Given the description of an element on the screen output the (x, y) to click on. 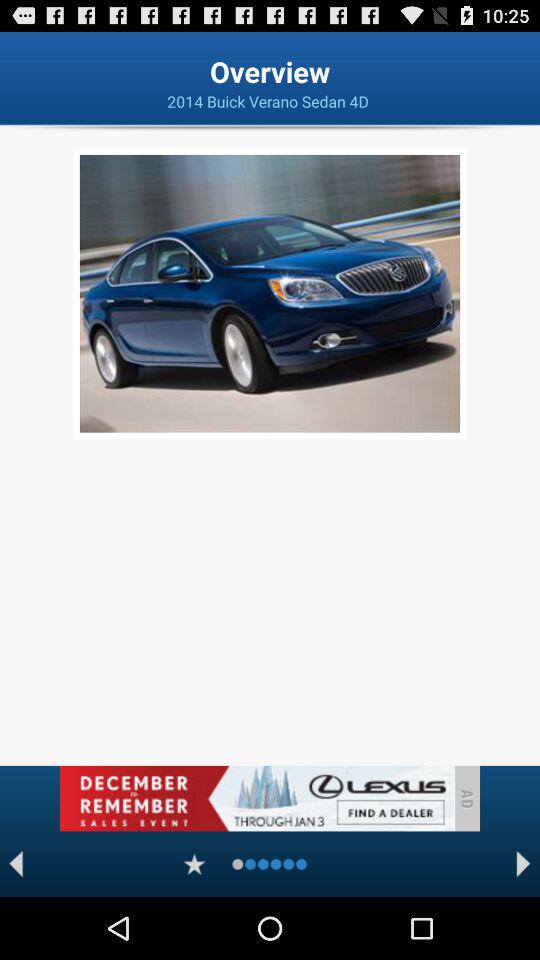
open advertisement (256, 798)
